Given the description of an element on the screen output the (x, y) to click on. 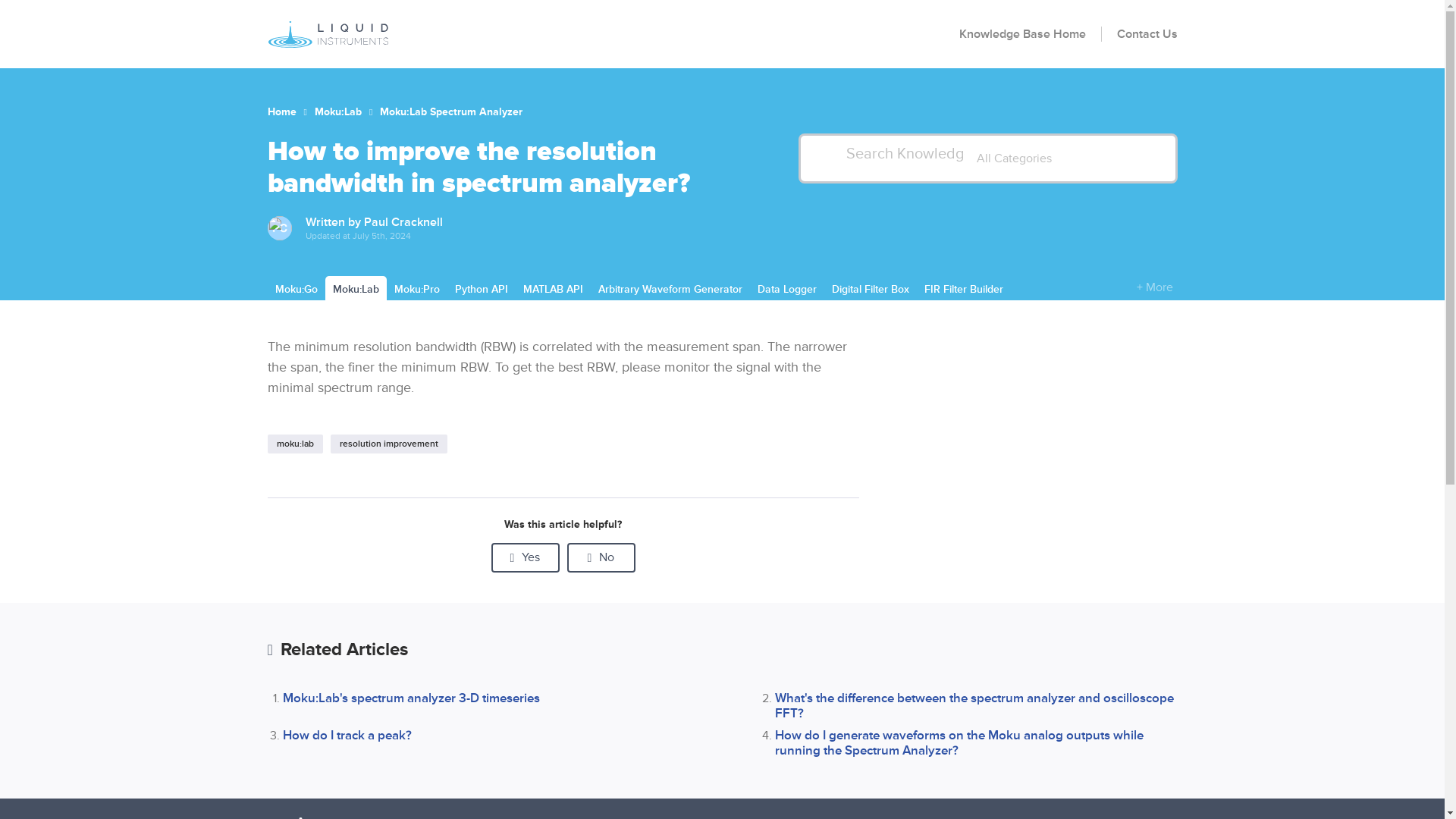
Home (280, 111)
Moku:Lab (354, 289)
Moku:Lab (337, 111)
Contact Us (1146, 33)
Knowledge Base Home (1029, 33)
Paul Cracknell (403, 222)
Moku:Lab Spectrum Analyzer (451, 111)
Moku:Go (295, 289)
